Given the description of an element on the screen output the (x, y) to click on. 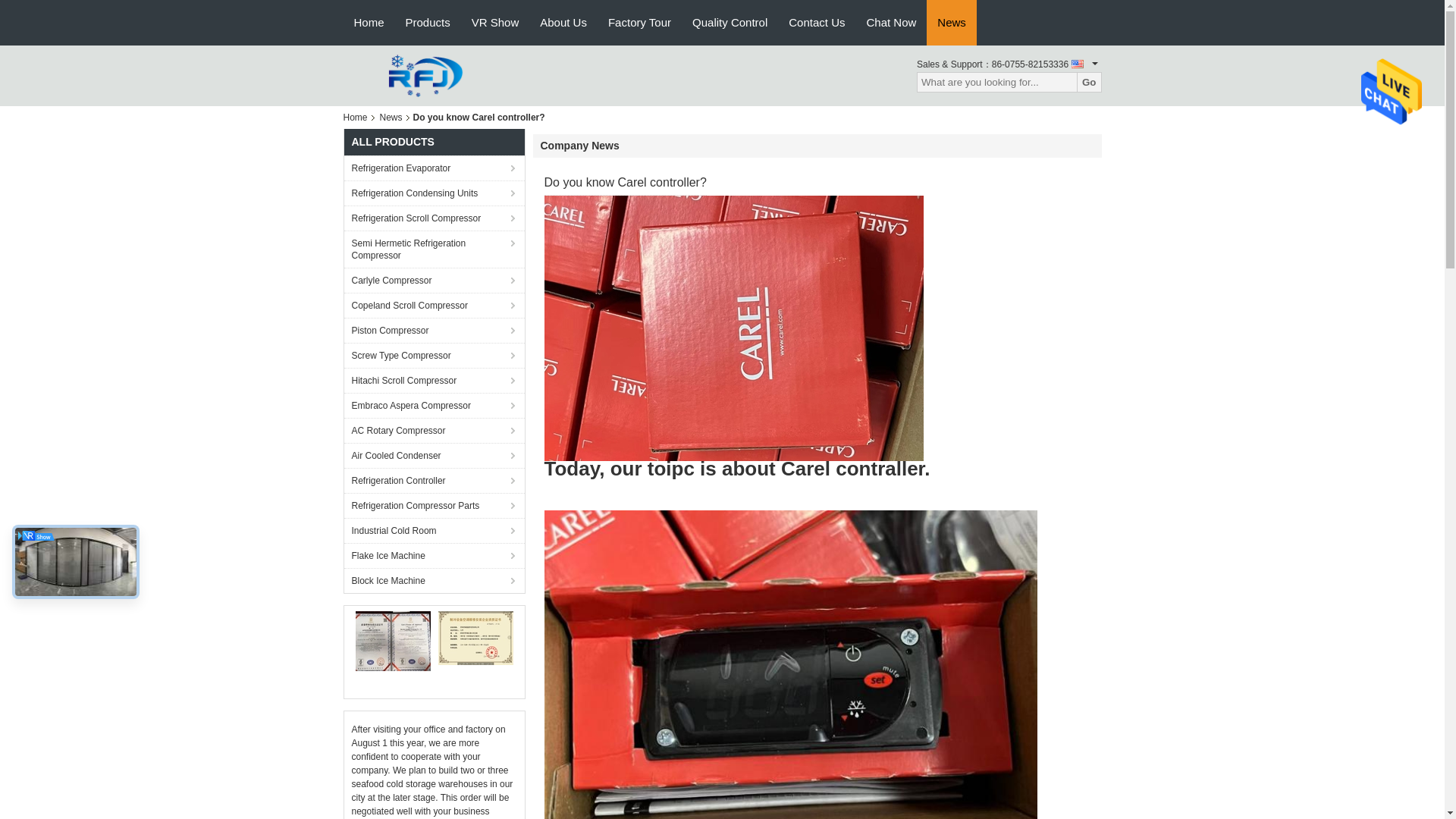
Shenzhen Ruifujie Technology Co., Ltd. (424, 74)
Home (357, 117)
Factory Tour (638, 22)
Contact Us (816, 22)
About Us (562, 22)
Carlyle Compressor (433, 279)
Refrigeration Evaporator (433, 167)
VR Show (495, 22)
Refrigeration Condensing Units (433, 192)
Refrigeration Scroll Compressor (433, 217)
Go (1089, 82)
Semi Hermetic Refrigeration Compressor (433, 248)
News (391, 117)
News (951, 22)
Products (427, 22)
